Given the description of an element on the screen output the (x, y) to click on. 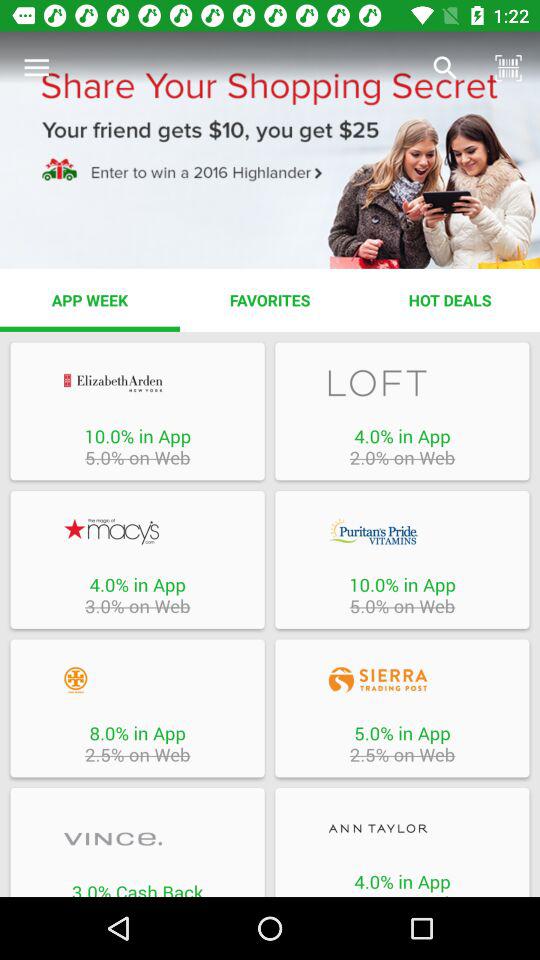
go to specific designer (137, 838)
